Given the description of an element on the screen output the (x, y) to click on. 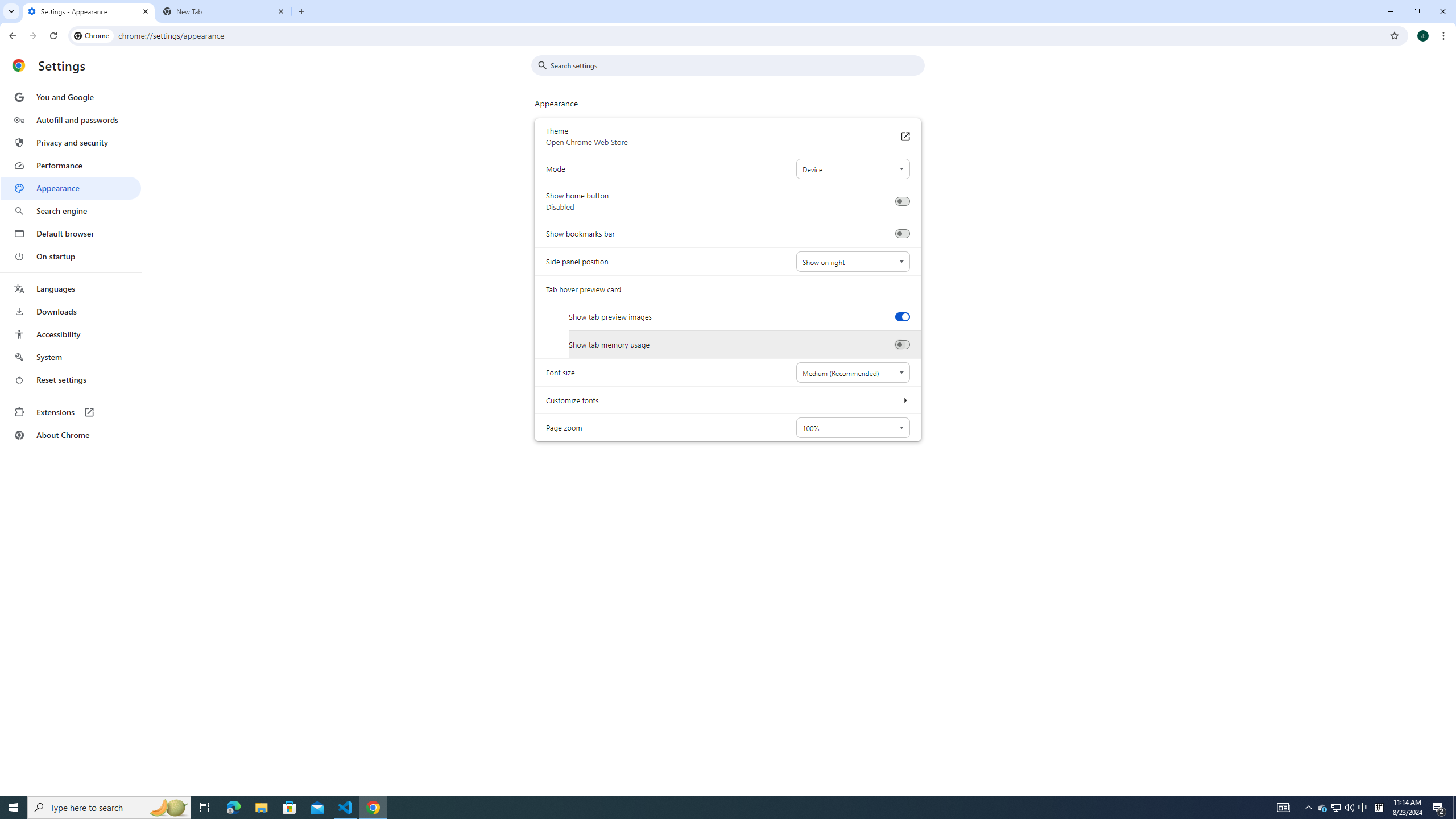
Default browser (70, 233)
AutomationID: menu (71, 265)
Font size (852, 372)
Theme Open Chrome Web Store (904, 136)
Show tab preview images (901, 316)
Show home button (901, 201)
Appearance (70, 187)
Search settings (735, 65)
